Given the description of an element on the screen output the (x, y) to click on. 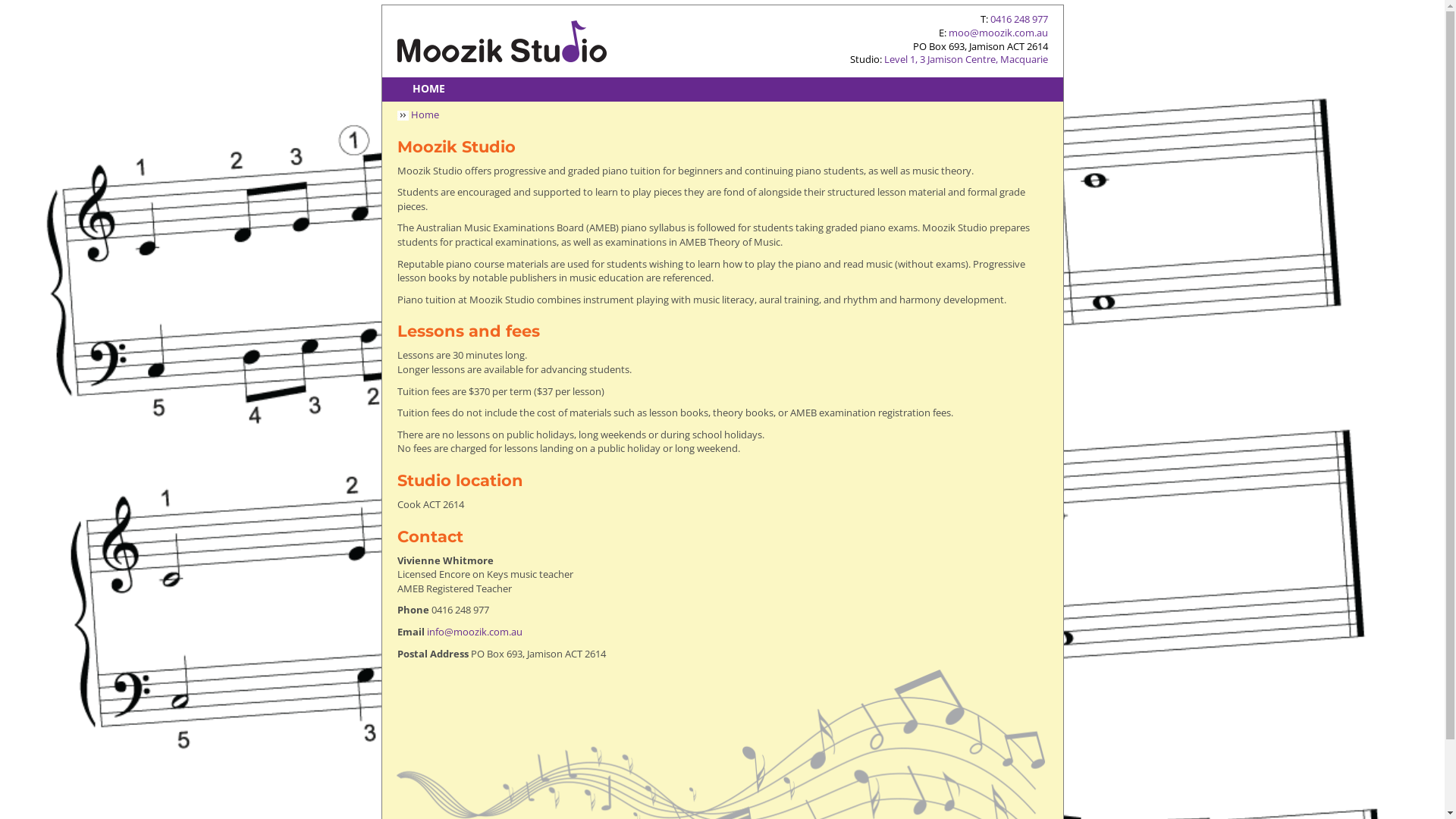
0416 248 977 Element type: text (1019, 18)
Home Element type: text (425, 114)
moo@moozik.com.au Element type: text (997, 32)
Level 1, 3 Jamison Centre, Macquarie Element type: text (966, 58)
HOME Element type: text (428, 89)
info@moozik.com.au Element type: text (473, 631)
